Given the description of an element on the screen output the (x, y) to click on. 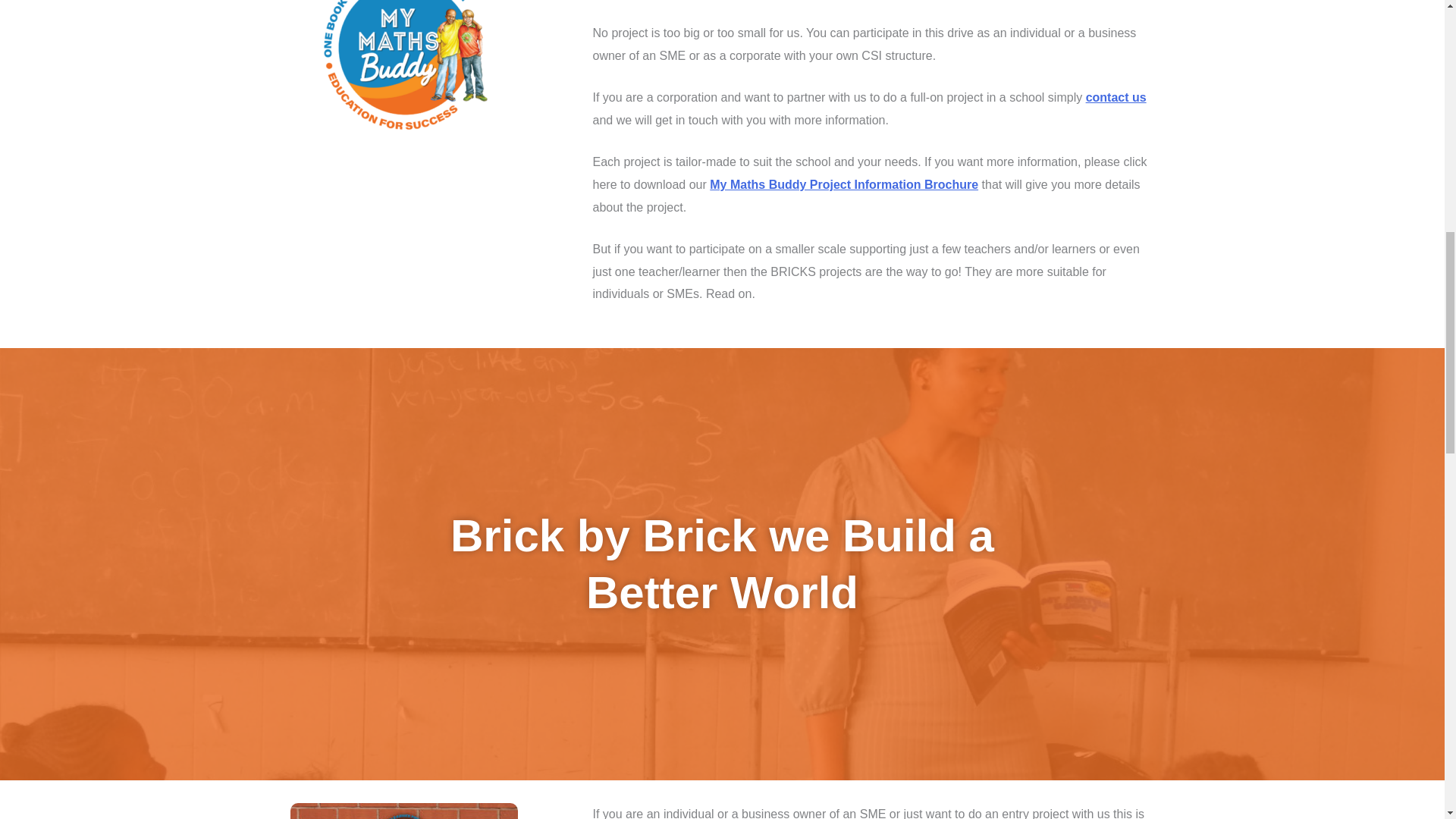
contact us (1116, 97)
My Maths Buddy Project Information Brochure (844, 184)
